Given the description of an element on the screen output the (x, y) to click on. 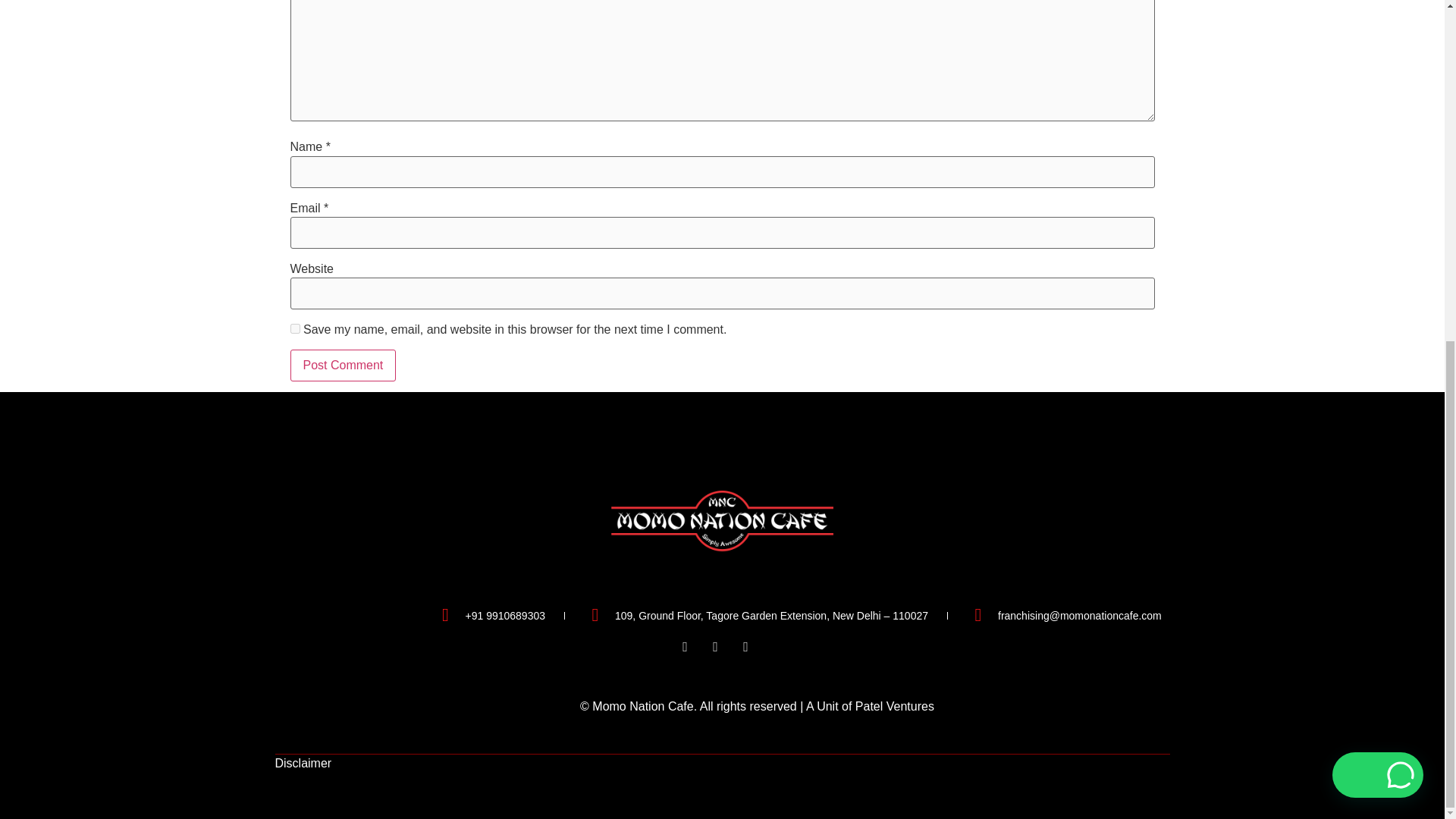
yes (294, 328)
Disclaimer (303, 763)
Post Comment (342, 365)
Post Comment (342, 365)
